Given the description of an element on the screen output the (x, y) to click on. 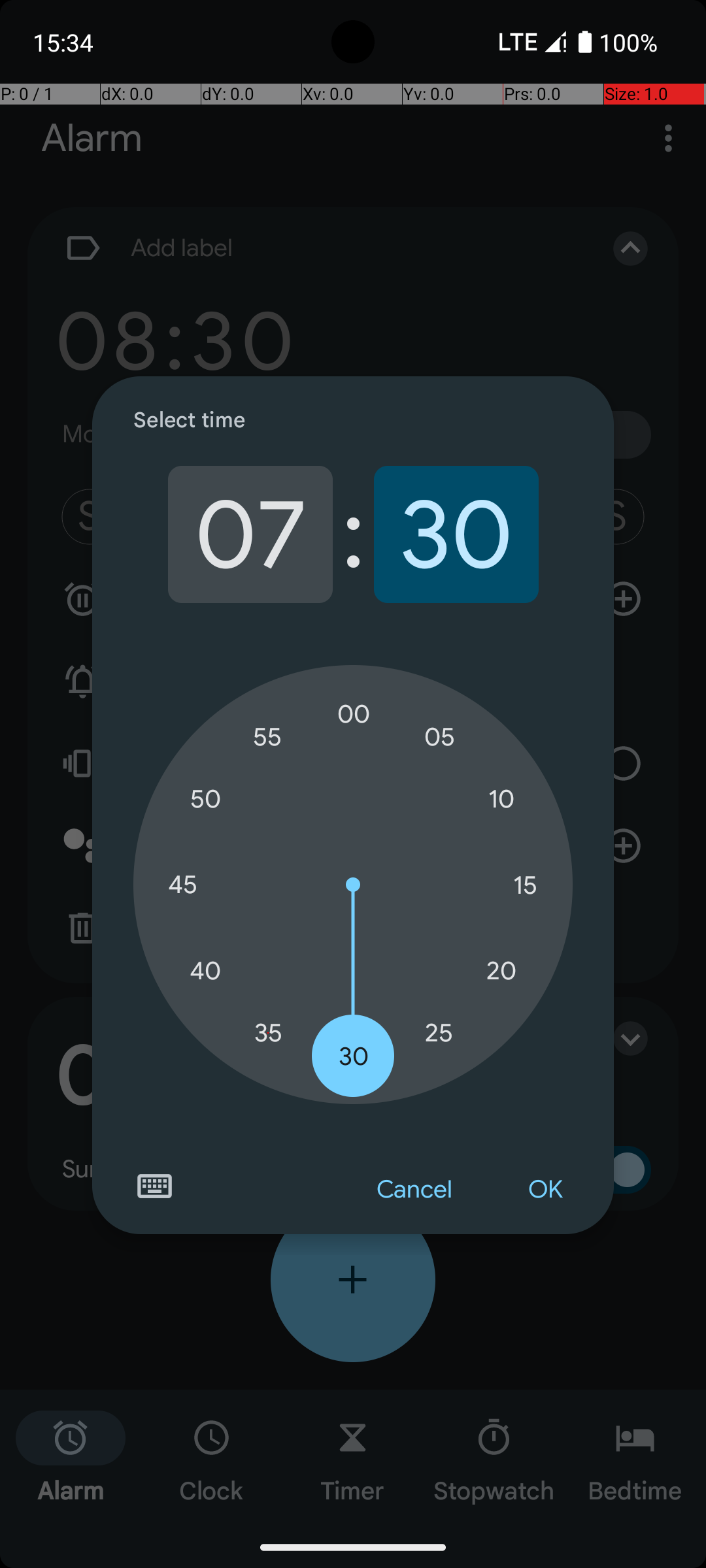
07 Element type: android.view.View (250, 534)
